Given the description of an element on the screen output the (x, y) to click on. 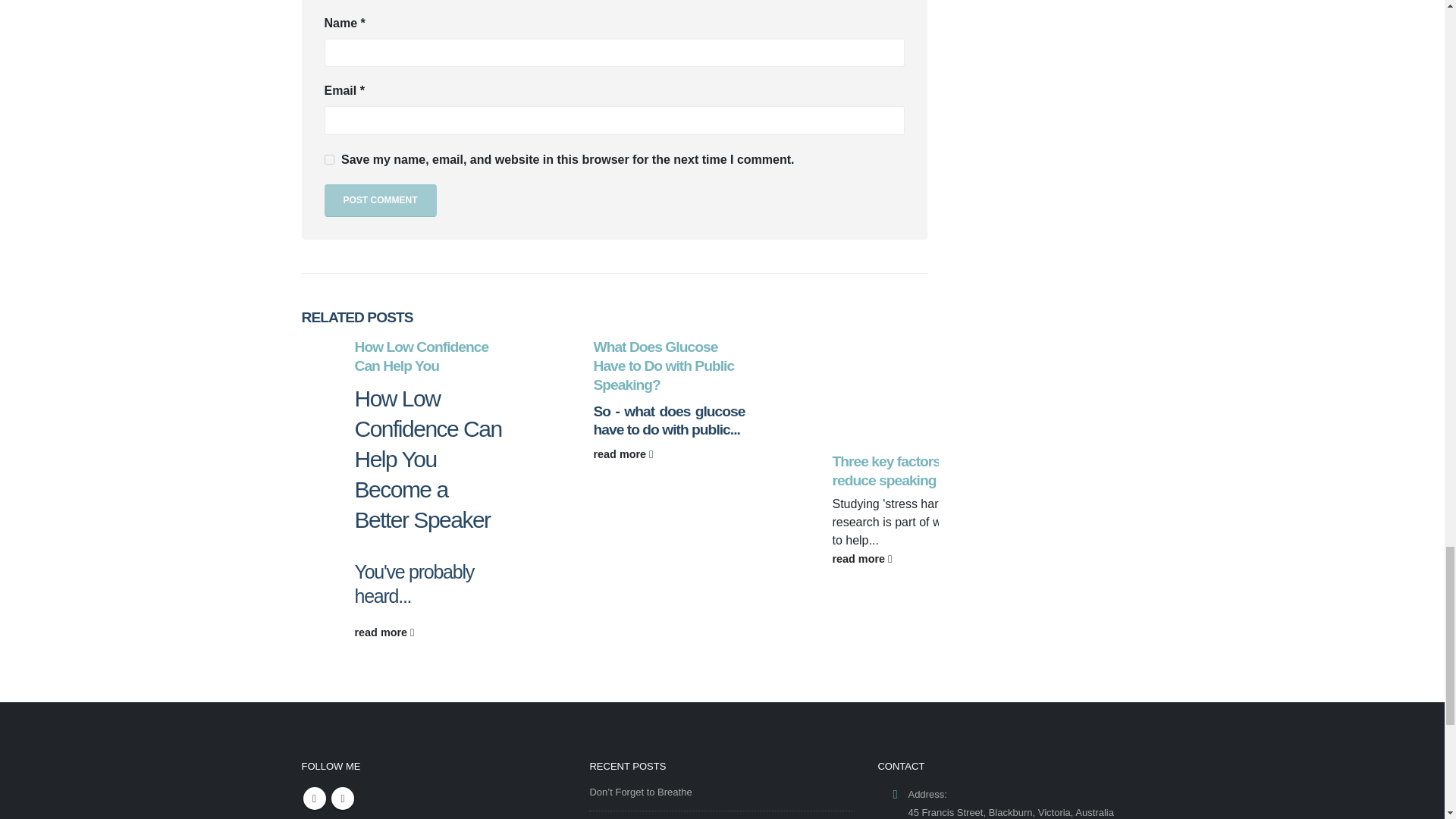
yes (329, 159)
Post Comment (380, 200)
Linkedin (314, 798)
Vimeo (342, 798)
